Given the description of an element on the screen output the (x, y) to click on. 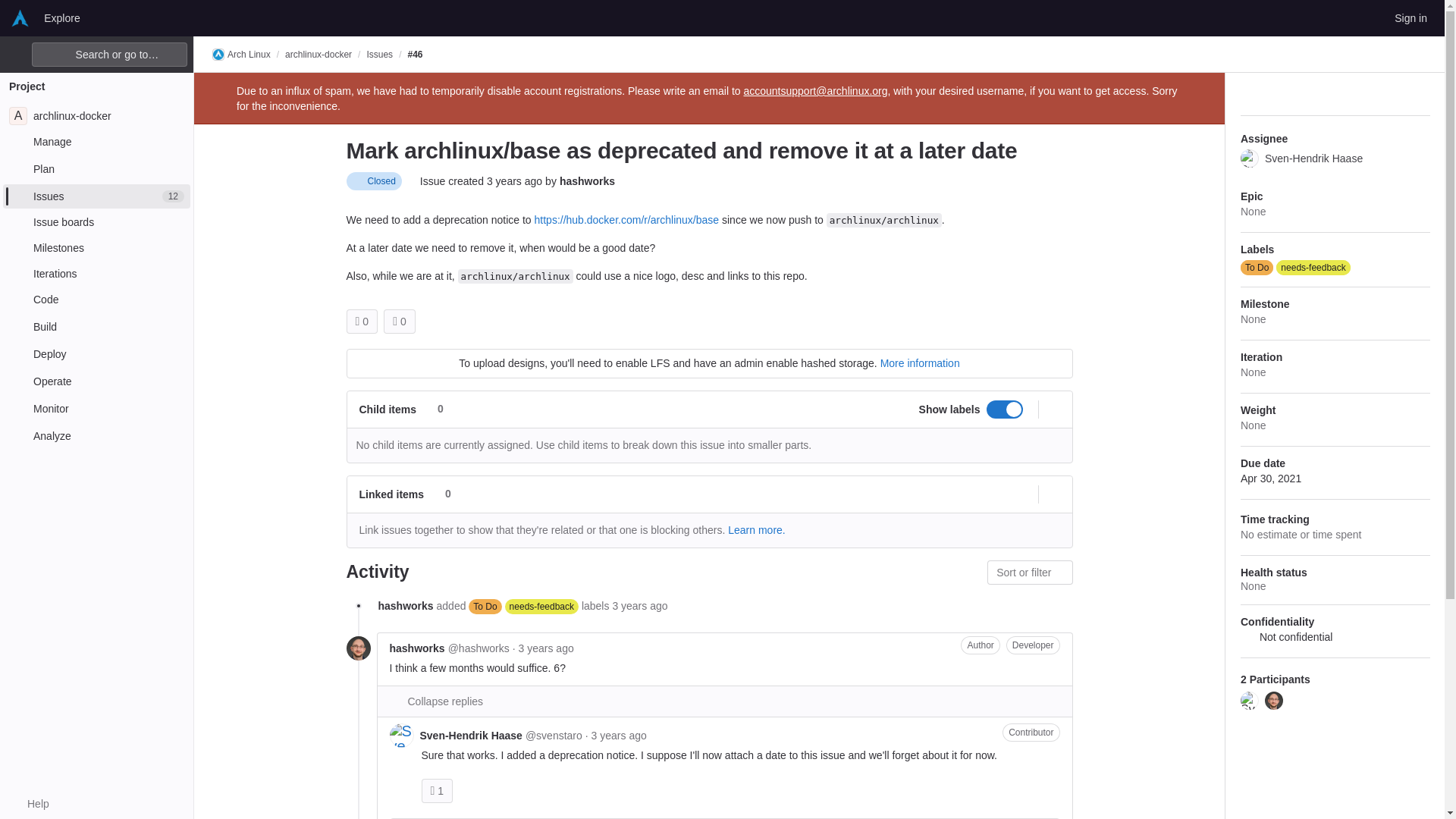
Monitor (96, 408)
Issue boards (96, 221)
Build (96, 326)
Homepage (20, 17)
This user is the author of this issue. (979, 644)
Operate (96, 115)
Explore (96, 381)
Manage (61, 17)
hashworks reacted with :thumbsup: (96, 141)
Plan (437, 790)
Sign in (96, 168)
Code (1410, 17)
Iterations (96, 299)
